Given the description of an element on the screen output the (x, y) to click on. 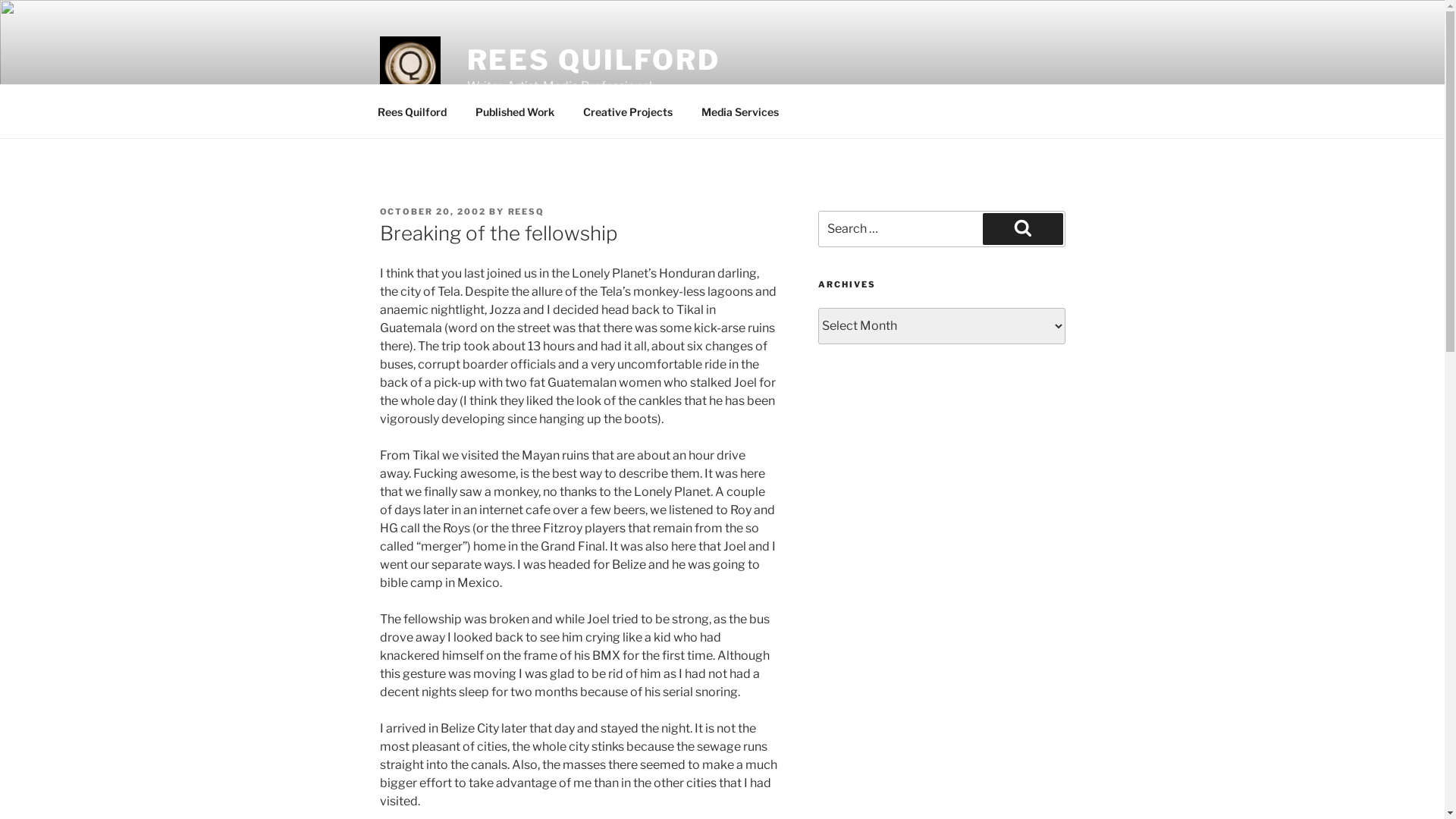
OCTOBER 20, 2002 Element type: text (432, 211)
REESQ Element type: text (526, 211)
Rees Quilford Element type: text (411, 110)
Search Element type: text (1022, 228)
Media Services Element type: text (740, 110)
REES QUILFORD Element type: text (593, 59)
Creative Projects Element type: text (628, 110)
Published Work Element type: text (514, 110)
